Given the description of an element on the screen output the (x, y) to click on. 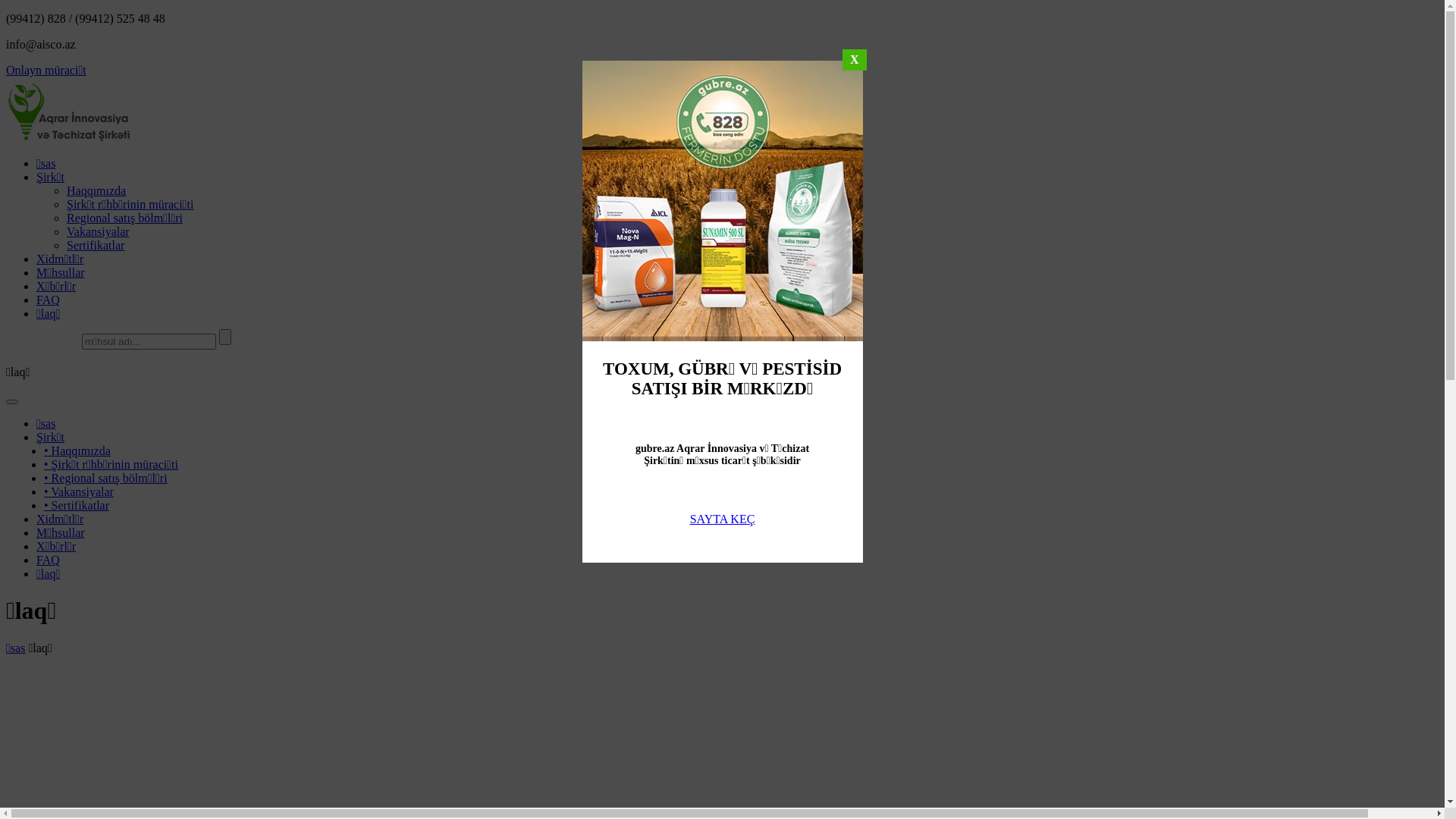
Sertifikatlar Element type: text (95, 244)
FAQ Element type: text (47, 299)
FAQ Element type: text (47, 559)
Vakansiyalar Element type: text (97, 231)
